Given the description of an element on the screen output the (x, y) to click on. 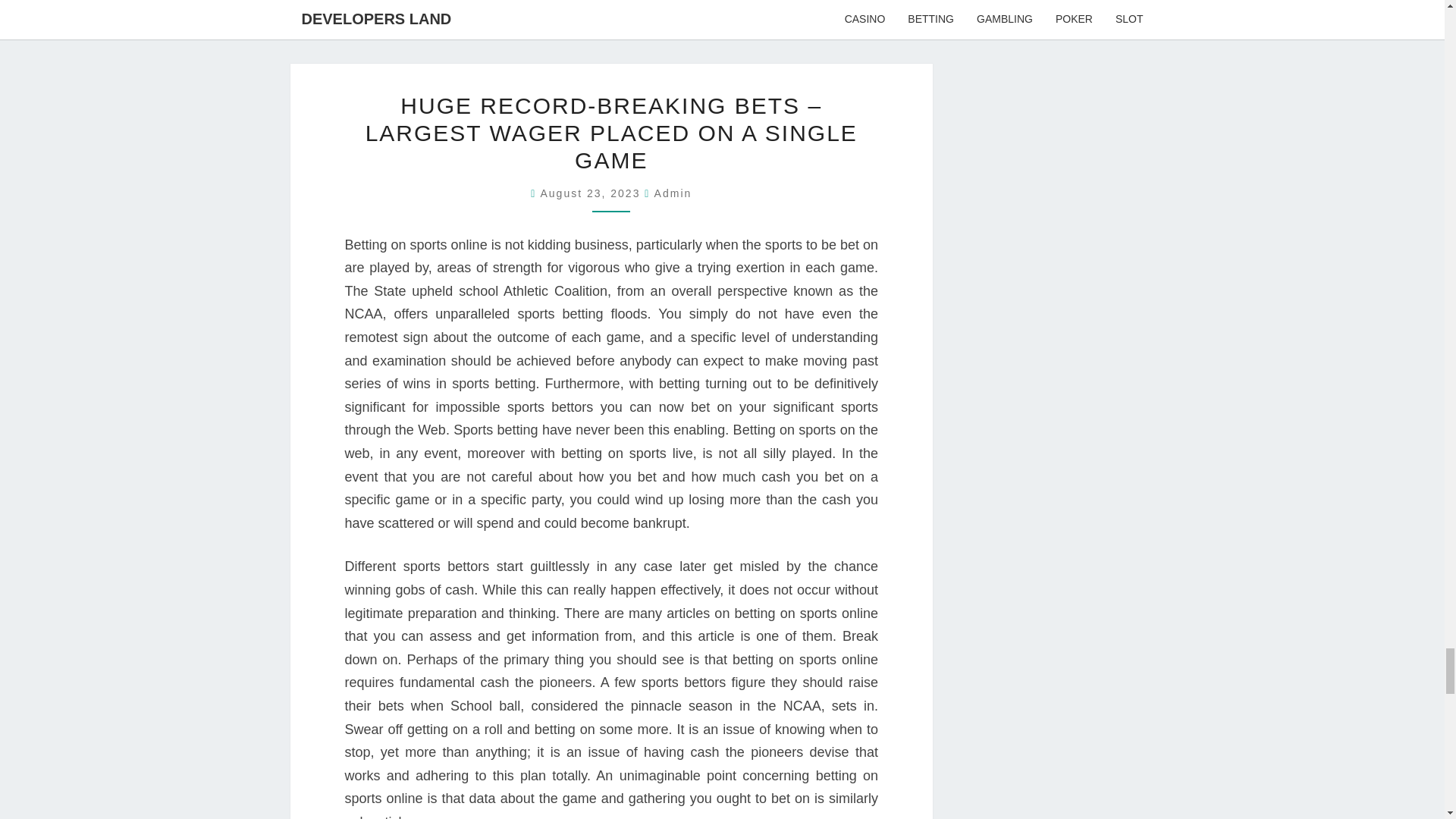
9:51 am (592, 193)
